Given the description of an element on the screen output the (x, y) to click on. 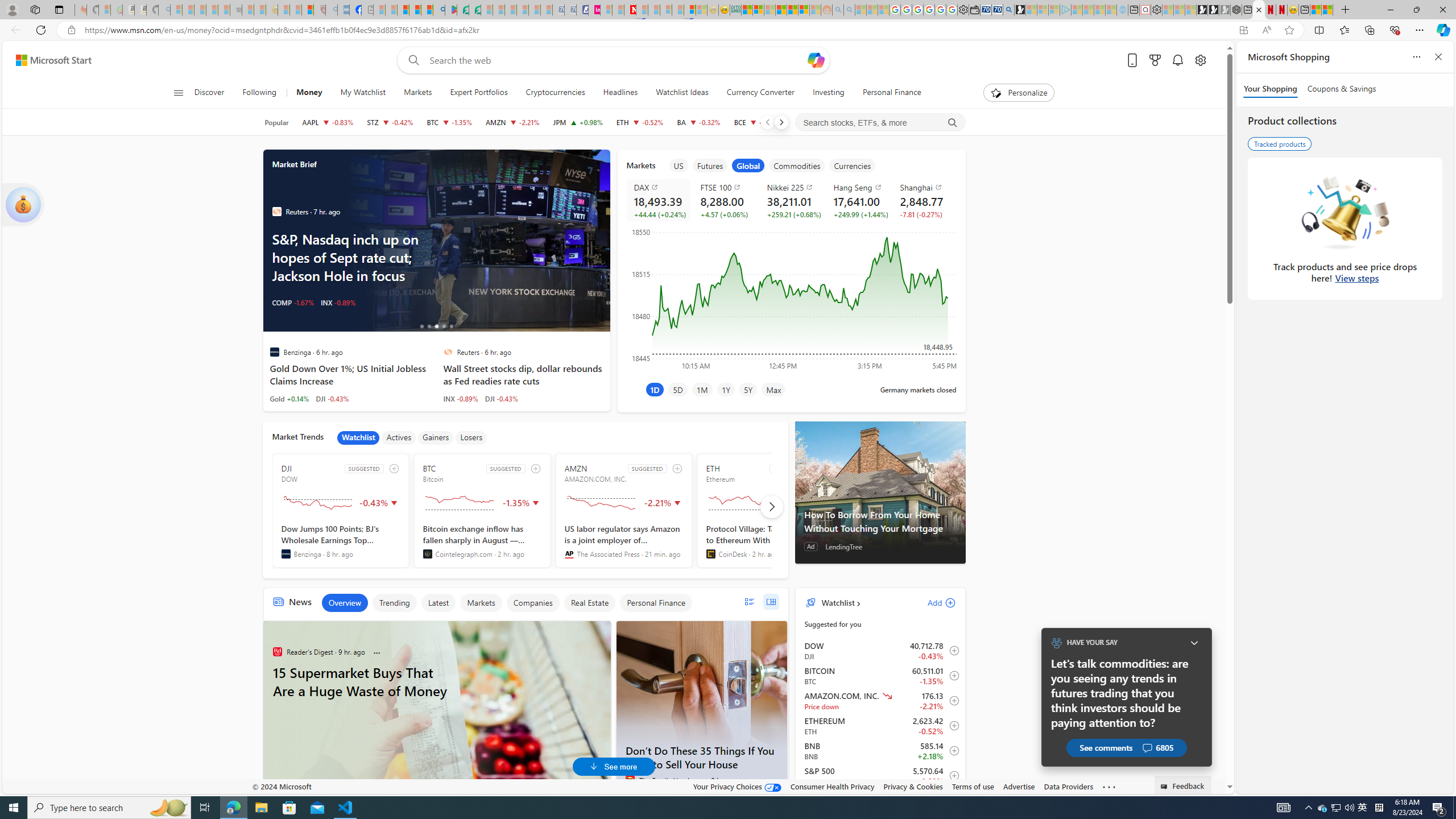
DITOGAMES AG Imprint (735, 9)
Skip to content (49, 59)
add to watchlist (676, 468)
My Watchlist (362, 92)
Personalize (1019, 92)
Notifications (1177, 60)
Your Privacy Choices (737, 785)
Data Providers (1068, 786)
Add (932, 602)
INX -0.89% (460, 397)
